Given the description of an element on the screen output the (x, y) to click on. 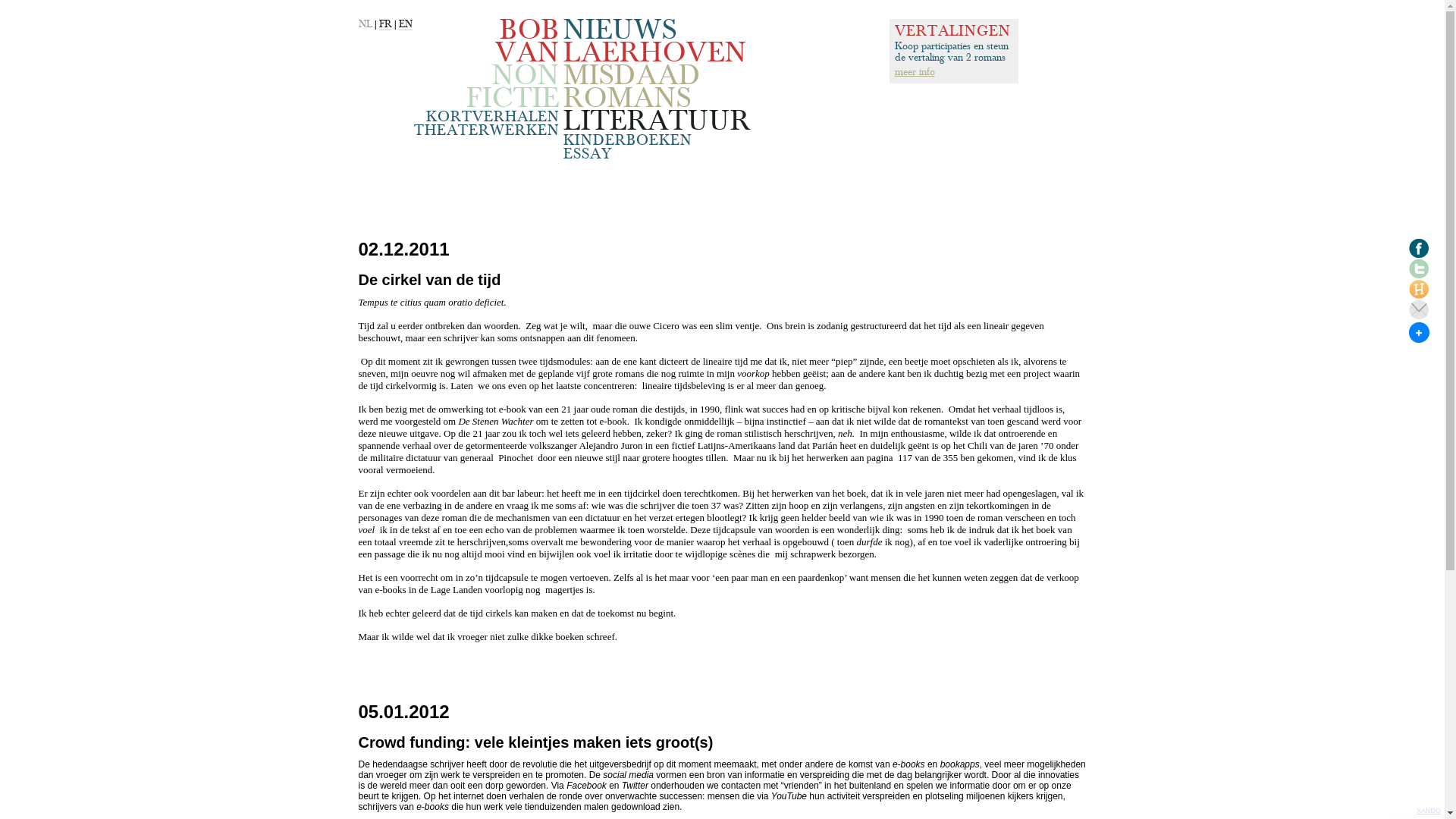
EN Element type: text (405, 24)
XANDO Element type: text (1428, 810)
KORTVERHALEN
THEATERWERKEN Element type: text (486, 123)
MISDAAD
ROMANS Element type: text (630, 86)
LITERATUUR Element type: text (655, 120)
FR Element type: text (385, 24)
LAERHOVEN Element type: text (654, 52)
BOB
VAN Element type: text (526, 41)
NON
FICTIE Element type: text (511, 86)
KINDERBOEKEN
ESSAY Element type: text (626, 146)
NIEUWS Element type: text (619, 29)
